Given the description of an element on the screen output the (x, y) to click on. 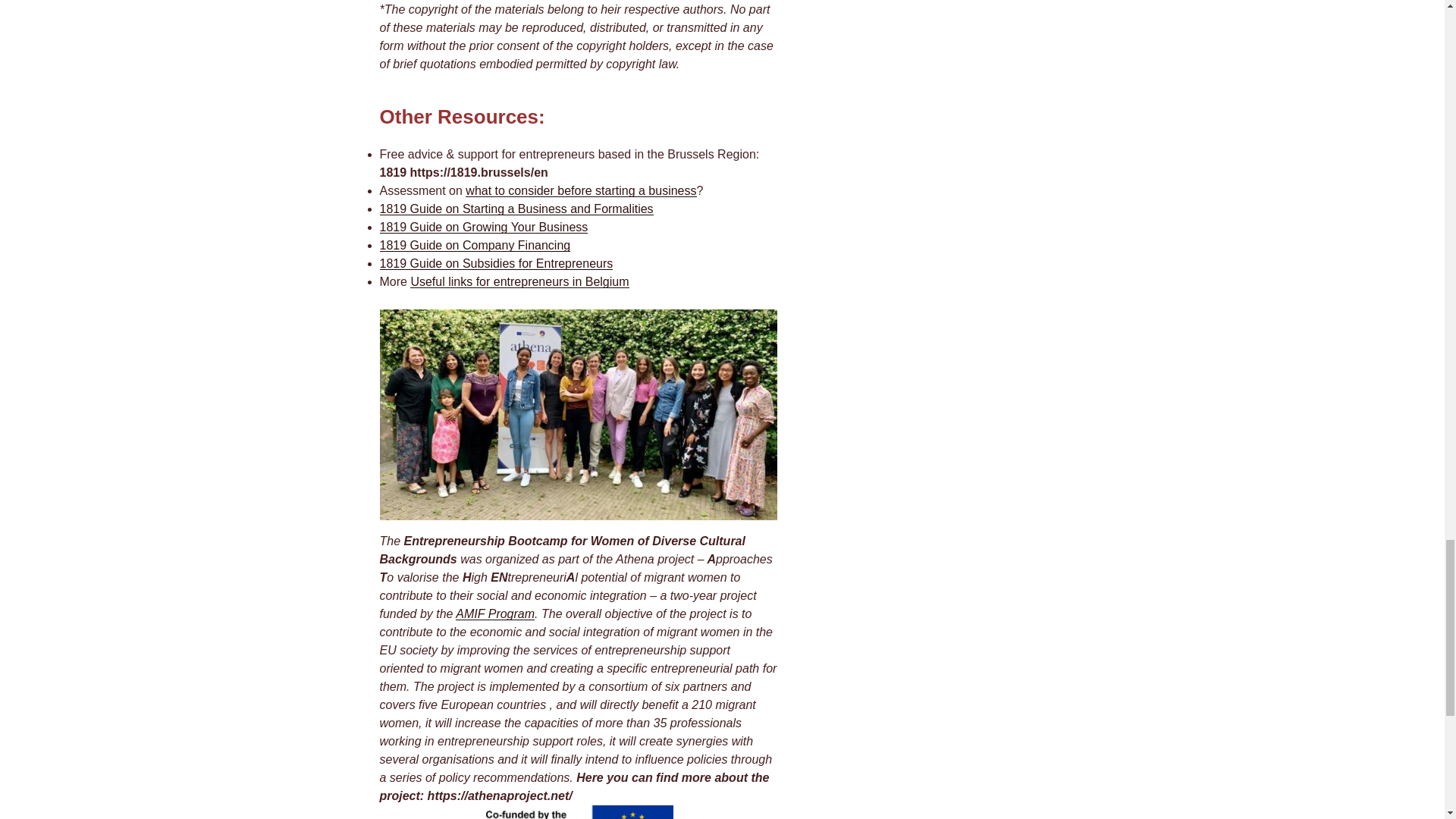
1819 Guide on Company Financing (474, 245)
1819 Guide on Starting a Business and Formalities (515, 208)
AMIF Program (494, 613)
what to consider before starting a business (580, 190)
Useful links for entrepreneurs in Belgium (519, 281)
1819 Guide on Subsidies for Entrepreneurs (495, 263)
1819 Guide on Growing Your Business (483, 226)
